Given the description of an element on the screen output the (x, y) to click on. 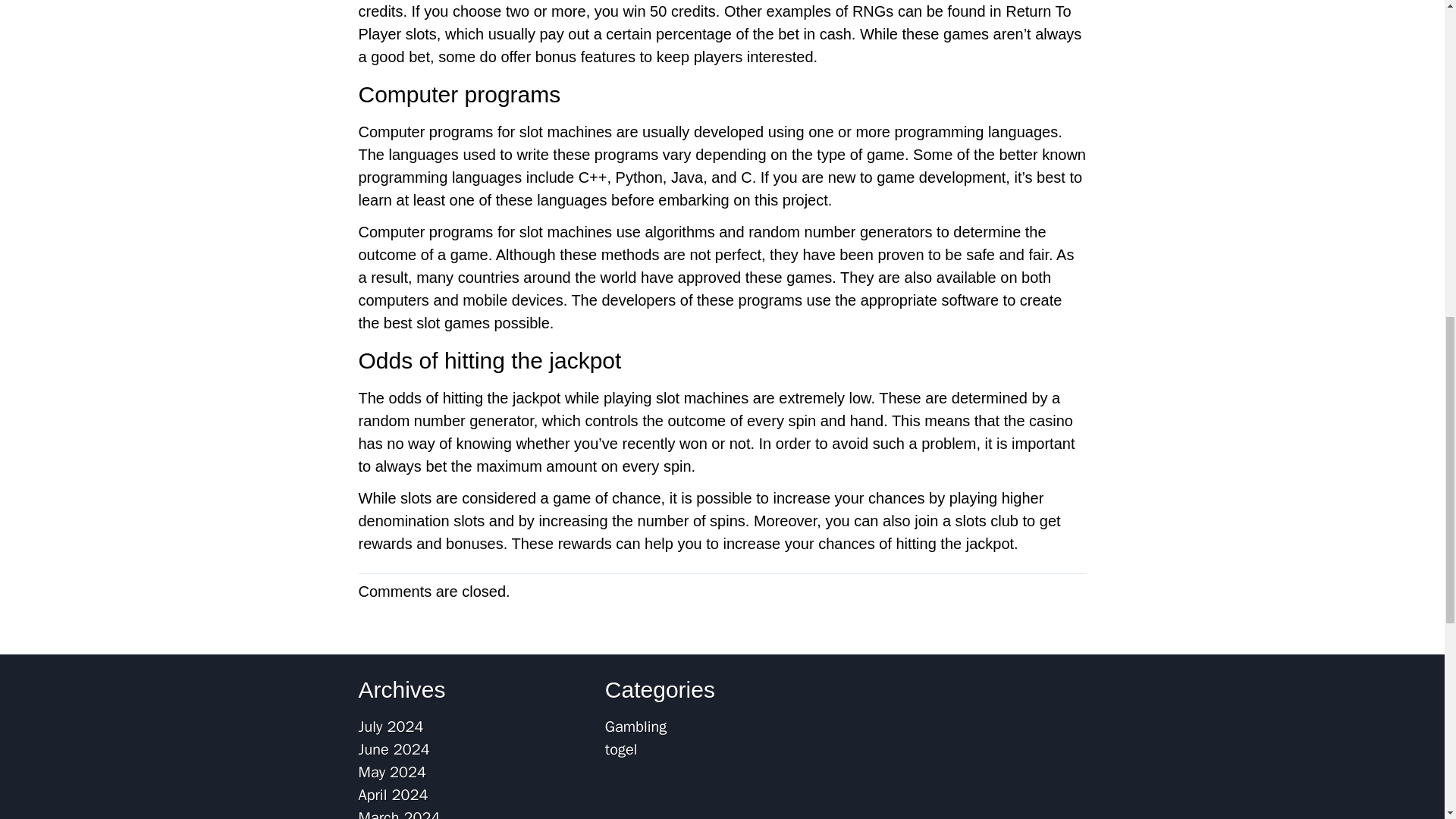
togel (621, 749)
May 2024 (392, 772)
Gambling (635, 726)
March 2024 (398, 813)
July 2024 (390, 726)
June 2024 (393, 749)
April 2024 (393, 794)
